Given the description of an element on the screen output the (x, y) to click on. 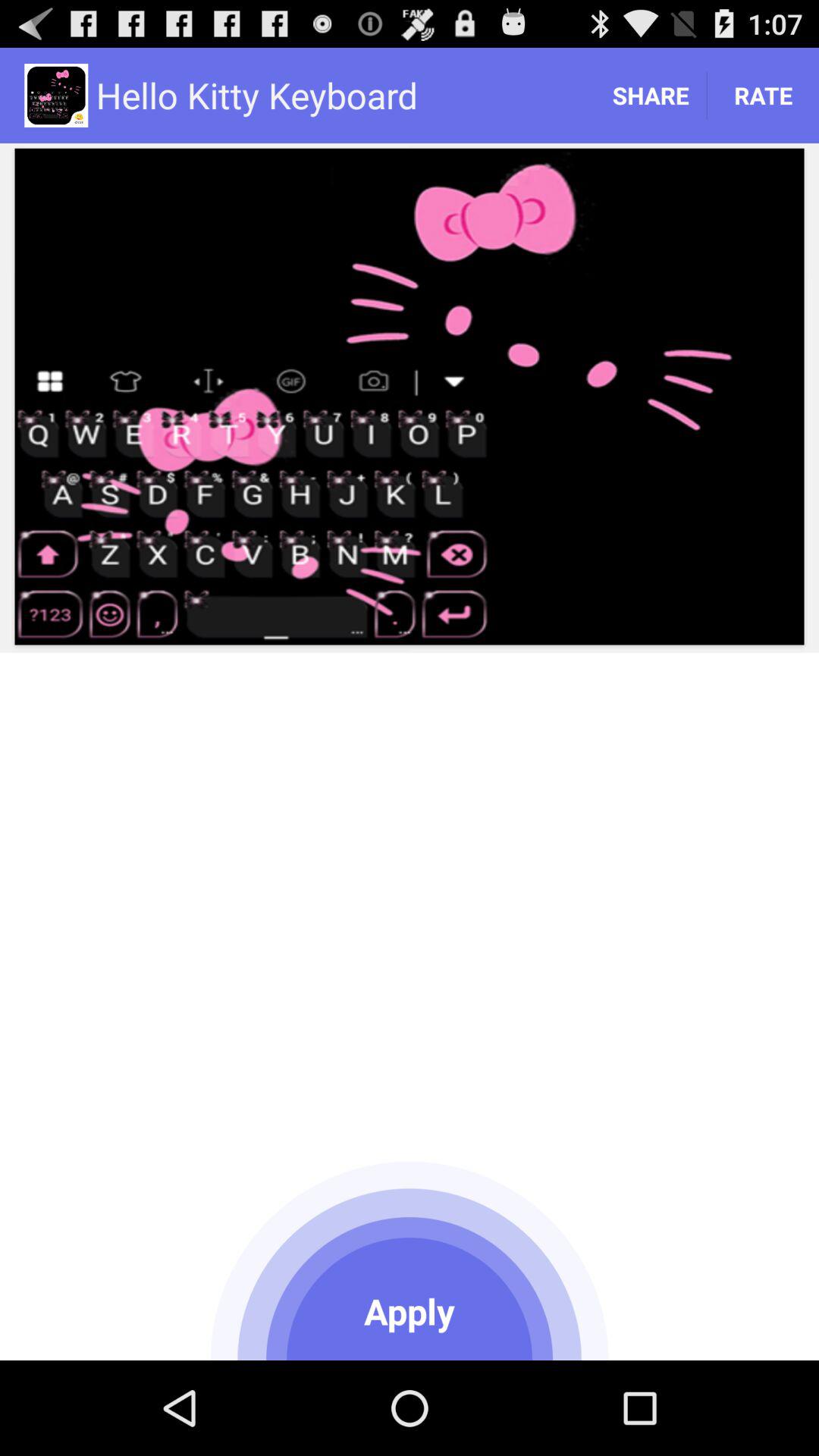
select icon to the left of the rate item (650, 95)
